Given the description of an element on the screen output the (x, y) to click on. 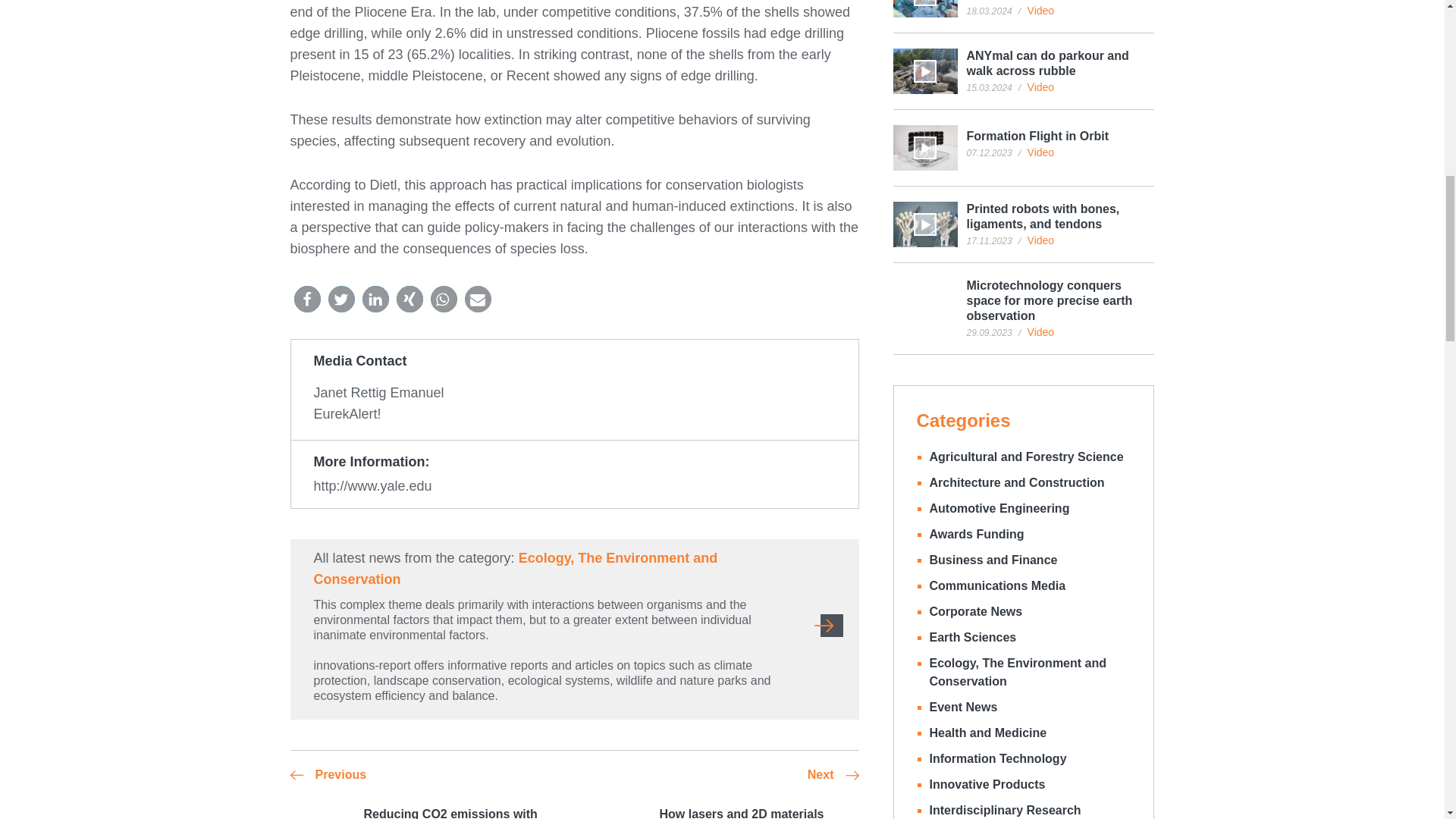
Share on Twitter (340, 298)
Share on Whatsapp (443, 298)
Send by email (477, 298)
Share on XING (409, 298)
Share on Facebook (307, 298)
Share on LinkedIn (375, 298)
